Given the description of an element on the screen output the (x, y) to click on. 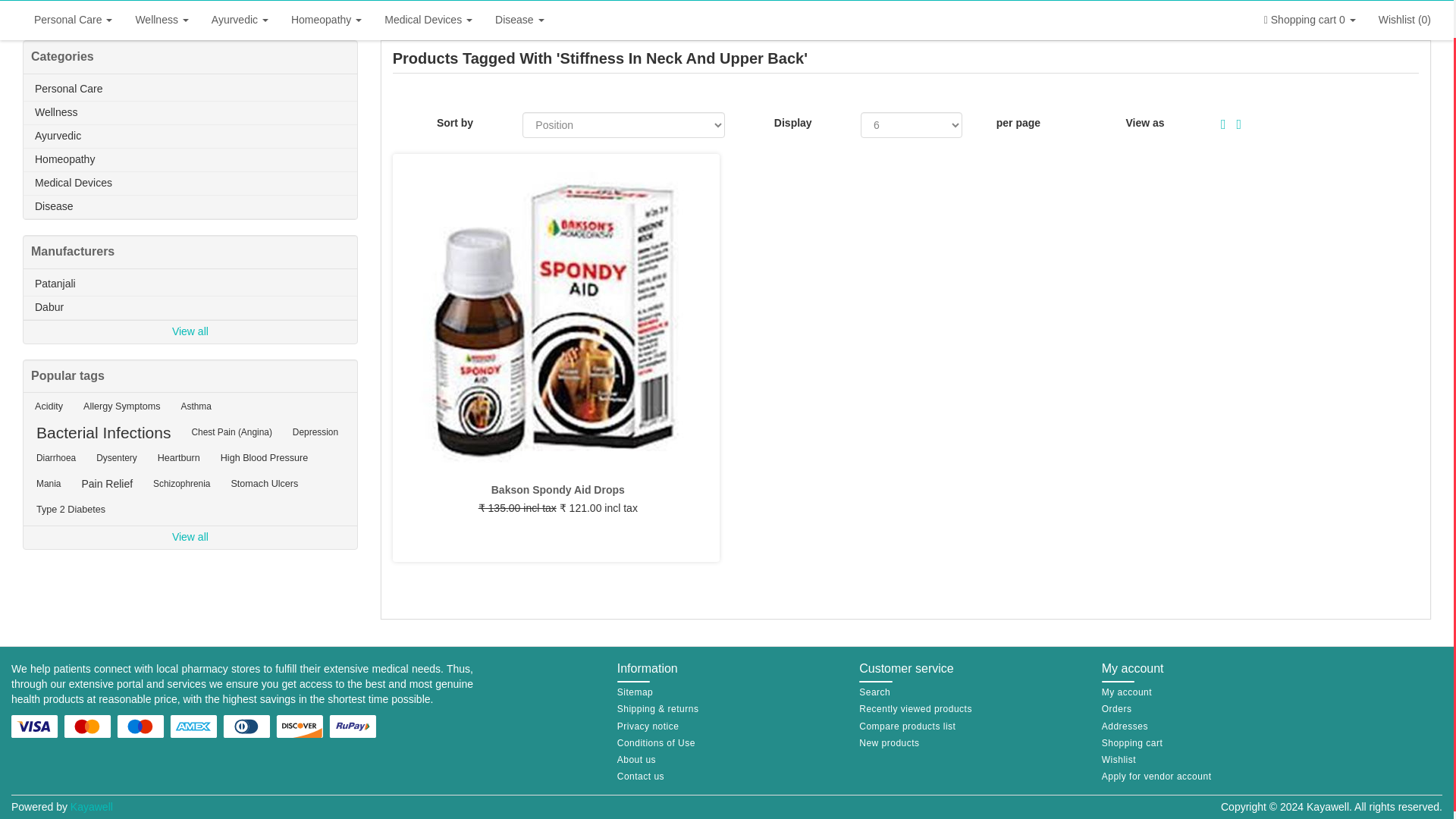
Personal Care (73, 19)
Show details for Bakson Spondy Aid Drops (555, 317)
Wellness (161, 19)
Bakson Spondy Aid Drops (558, 490)
Show details for Bakson Spondy Aid Drops (556, 317)
